Given the description of an element on the screen output the (x, y) to click on. 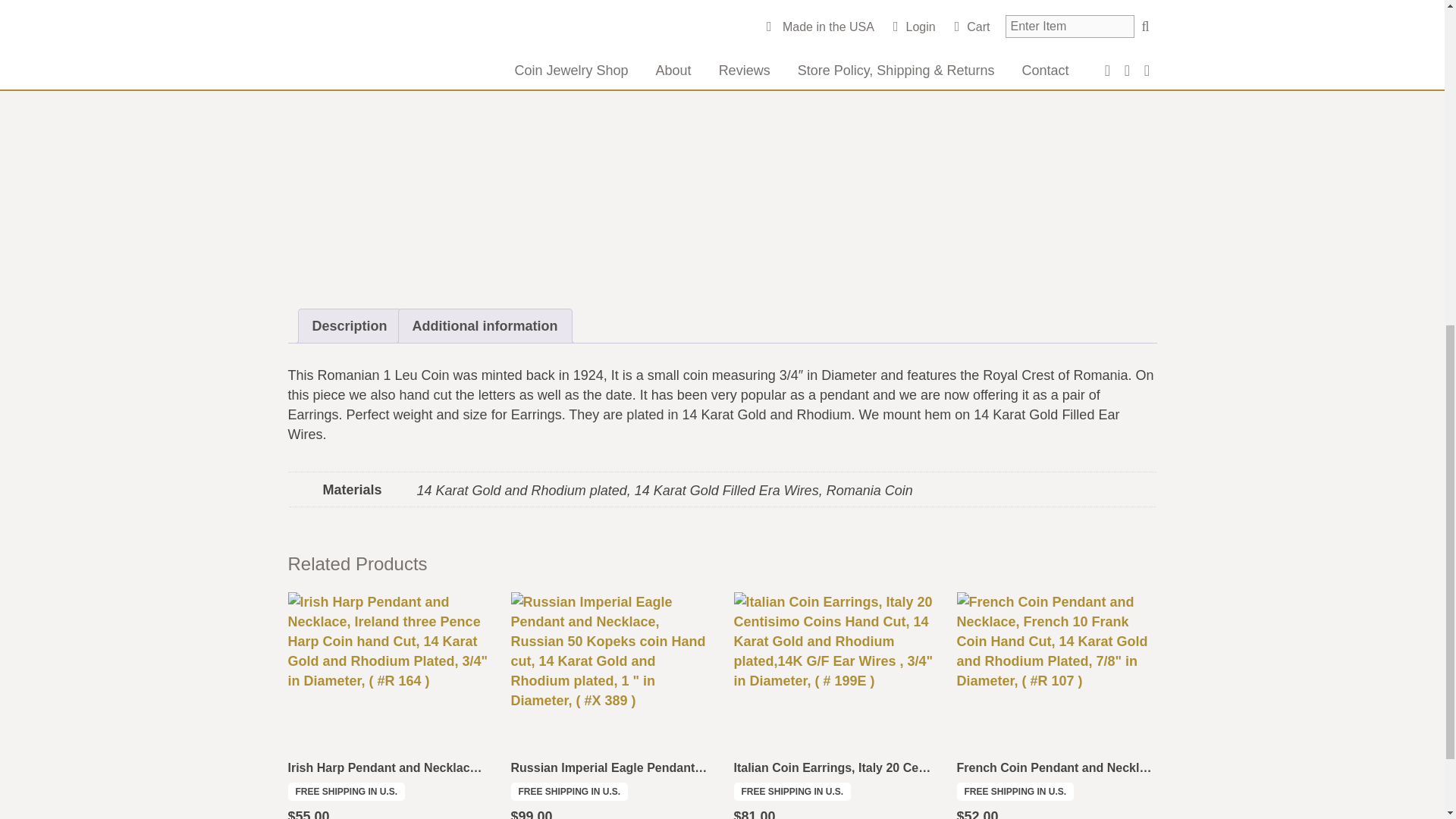
Romanian Earrings (846, 30)
Romania Gift item (911, 20)
Coin Jewelry (812, 11)
Romania Earrings (1029, 11)
Romanian Jewelry (954, 30)
Ethnic Coins (756, 0)
Coin Earrings (735, 11)
Romania Jewelry (743, 30)
Romania Coin Jewelry (914, 11)
